Given the description of an element on the screen output the (x, y) to click on. 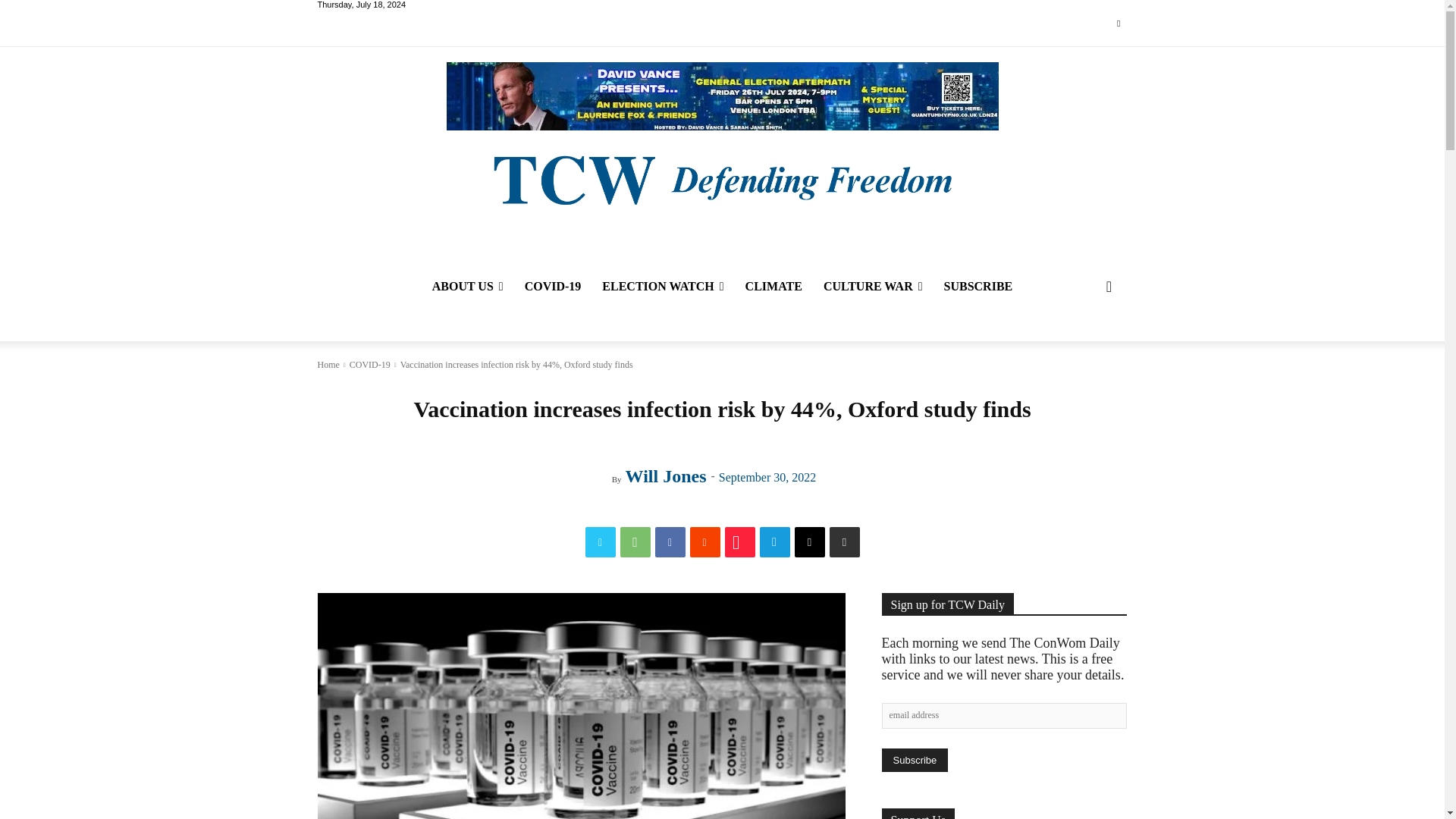
The Conservative Woman (721, 178)
Telegram (775, 542)
ReddIt (705, 542)
Facebook (670, 542)
Twitter (1117, 23)
Gettr (740, 542)
WhatsApp (635, 542)
Subscribe (913, 760)
ELECTION WATCH (662, 286)
ABOUT US (467, 286)
Twitter (600, 542)
COVID-19 (552, 286)
View all posts in COVID-19 (369, 364)
CLIMATE (773, 286)
